Given the description of an element on the screen output the (x, y) to click on. 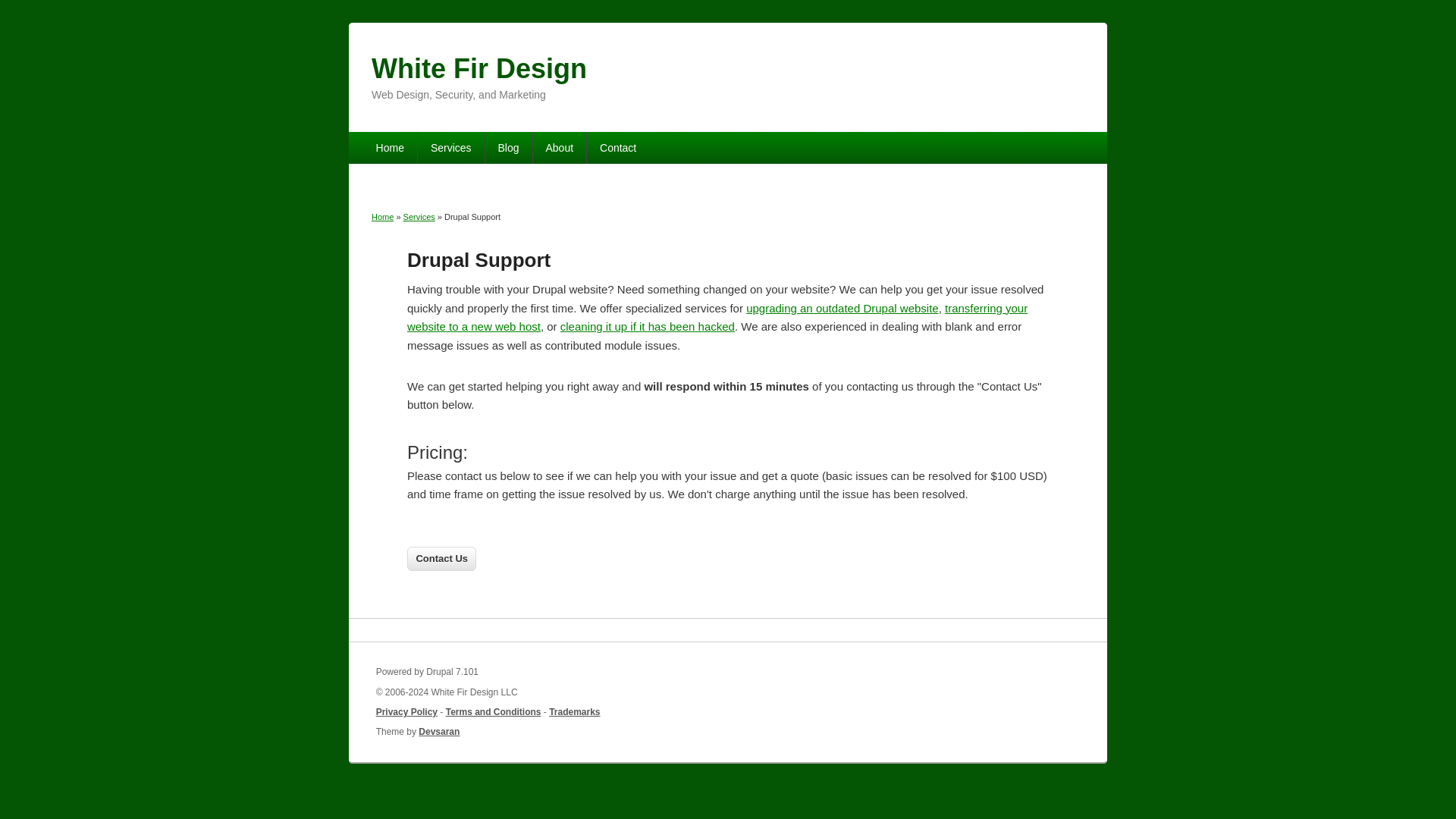
cleaning it up if it has been hacked (647, 326)
Home (478, 68)
White Fir Design (478, 68)
About (559, 147)
Blog (508, 147)
Devsaran (439, 731)
Contact Us (441, 558)
Privacy Policy (406, 711)
Terms and Conditions (493, 711)
Contact (617, 147)
